Given the description of an element on the screen output the (x, y) to click on. 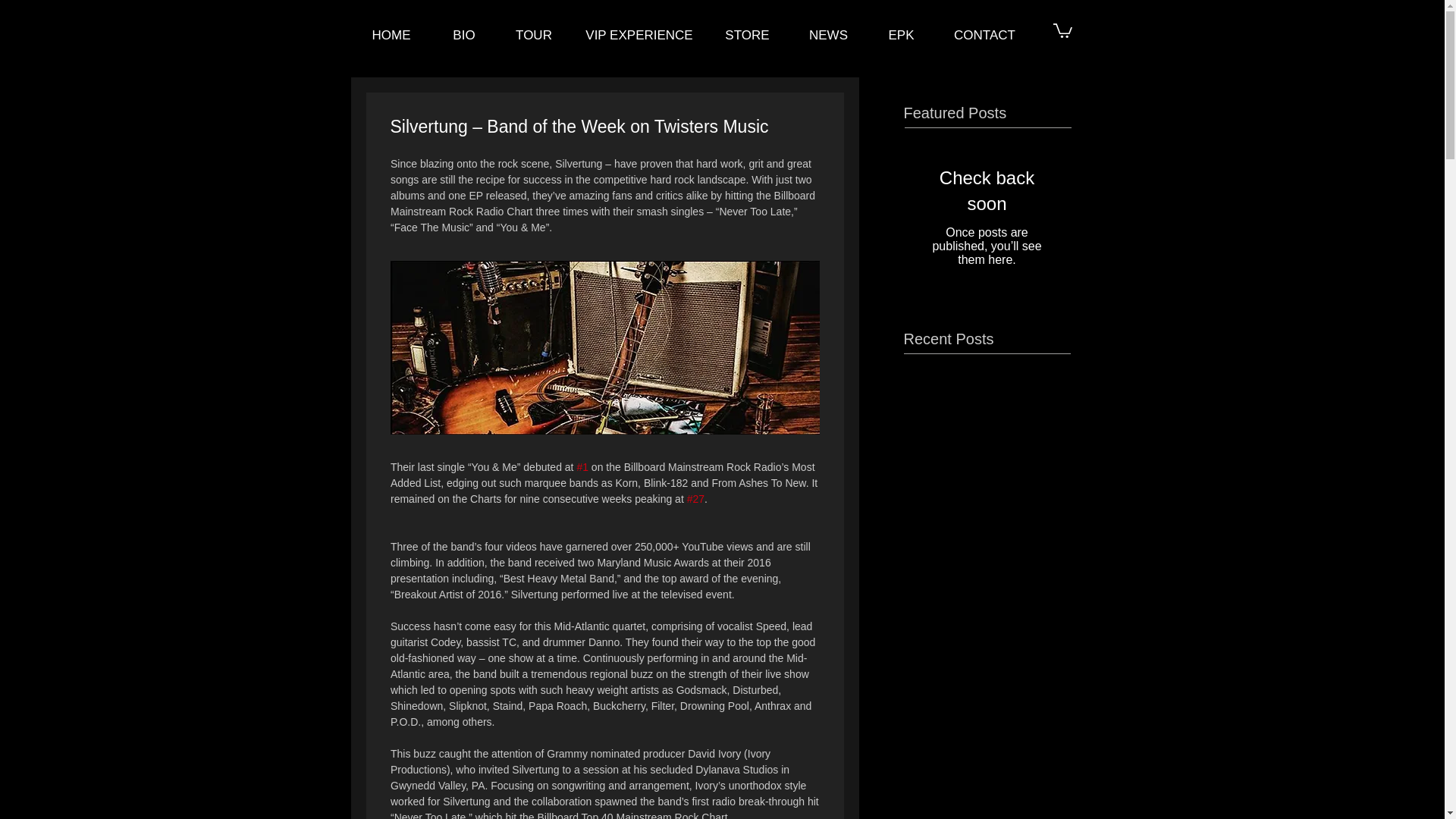
EPK (901, 34)
TOUR (533, 34)
NEWS (828, 34)
STORE (746, 34)
BIO (464, 34)
HOME (390, 34)
CONTACT (984, 34)
VIP EXPERIENCE (639, 34)
